Given the description of an element on the screen output the (x, y) to click on. 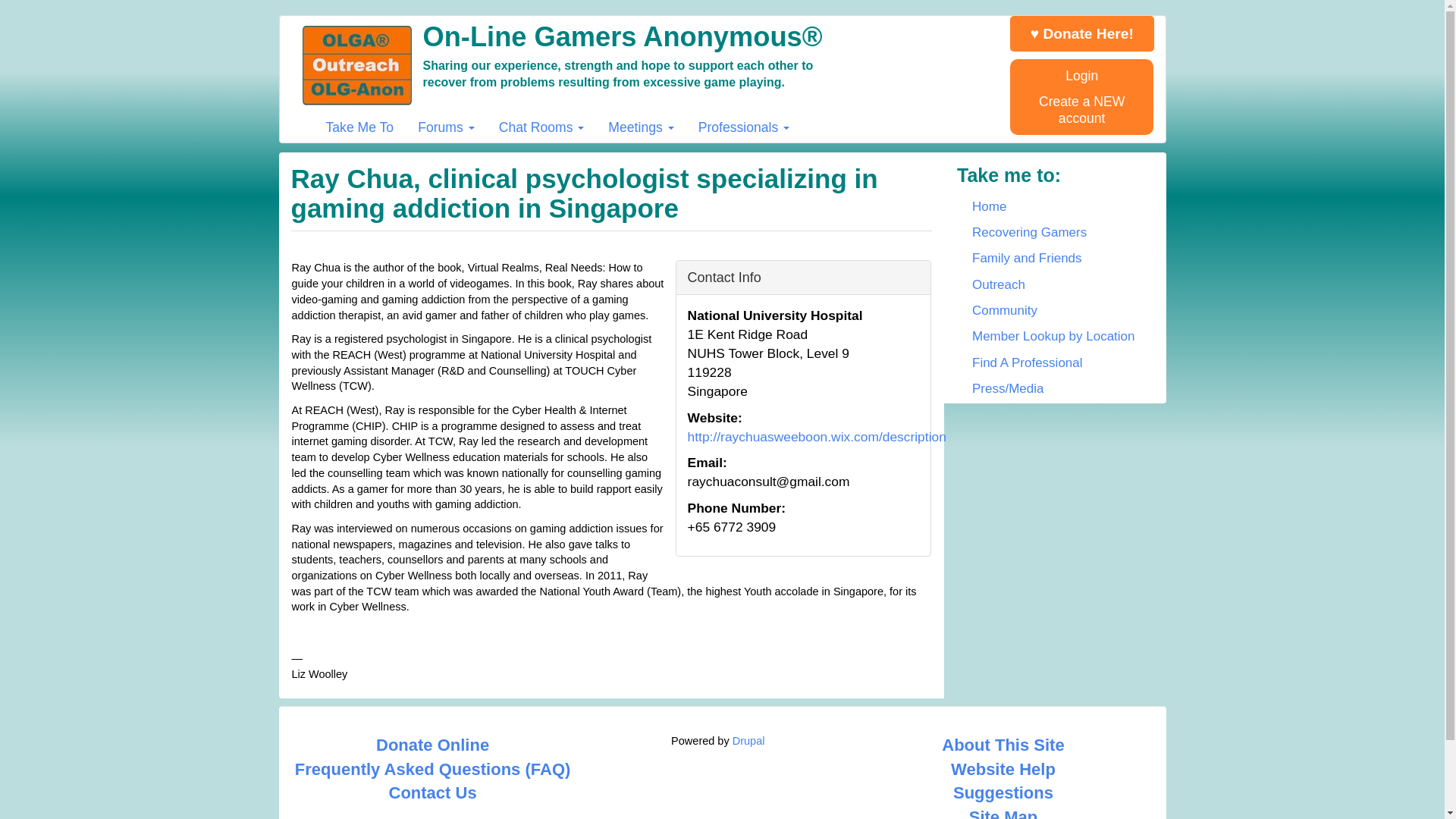
Professionals (743, 127)
Take Me To (359, 127)
Recovering Gamers (1054, 232)
Outreach (1054, 284)
Forums (445, 127)
Meetings (640, 127)
Member Lookup by Location (1054, 336)
You must be logged into the website to go to the chat rooms. (542, 127)
Find A Professional (1054, 362)
Home (710, 40)
Login (1081, 75)
Community (1054, 310)
Home (1054, 207)
Chat Rooms (542, 127)
